Given the description of an element on the screen output the (x, y) to click on. 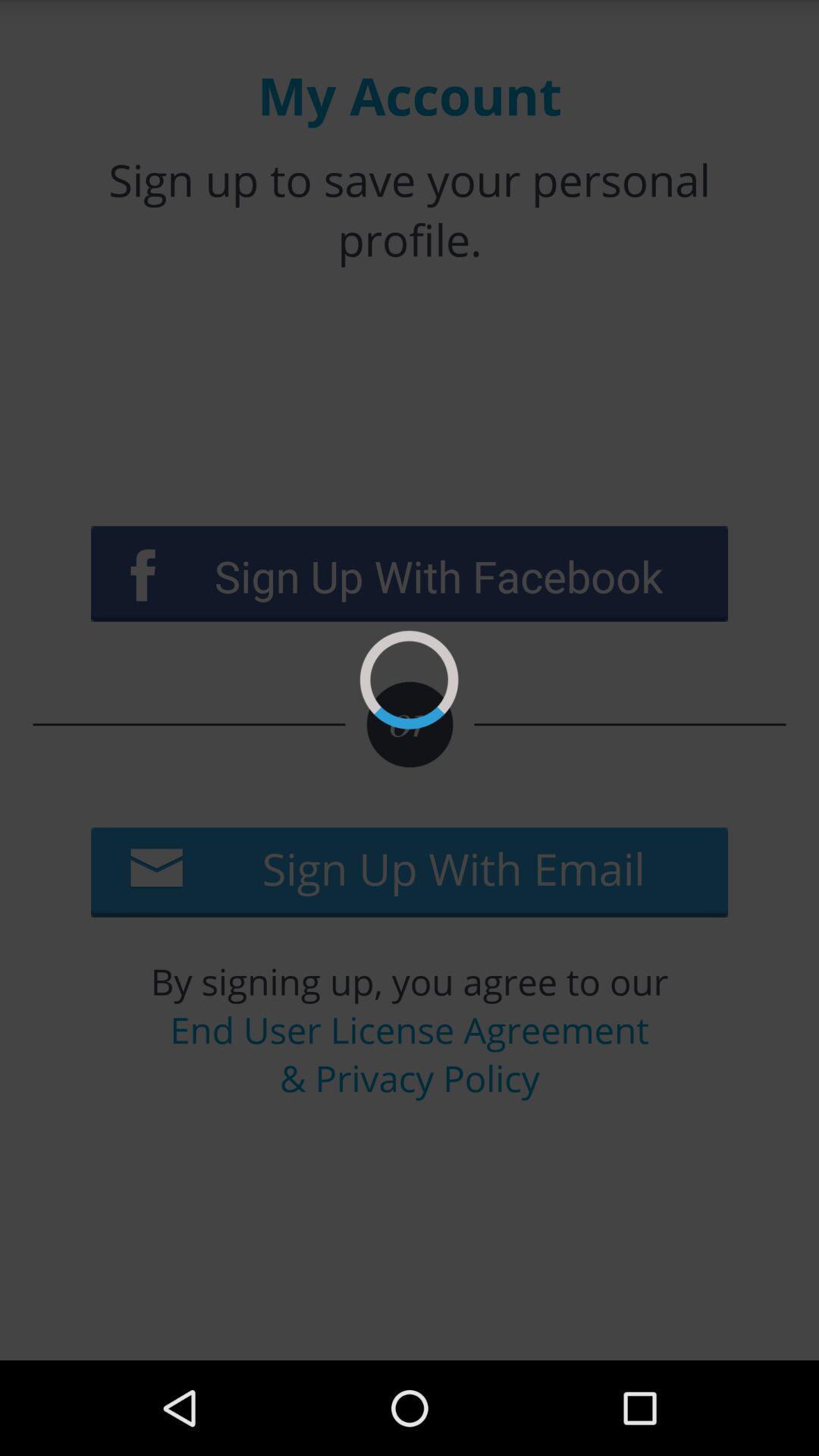
open the icon below the by signing up item (409, 1053)
